Given the description of an element on the screen output the (x, y) to click on. 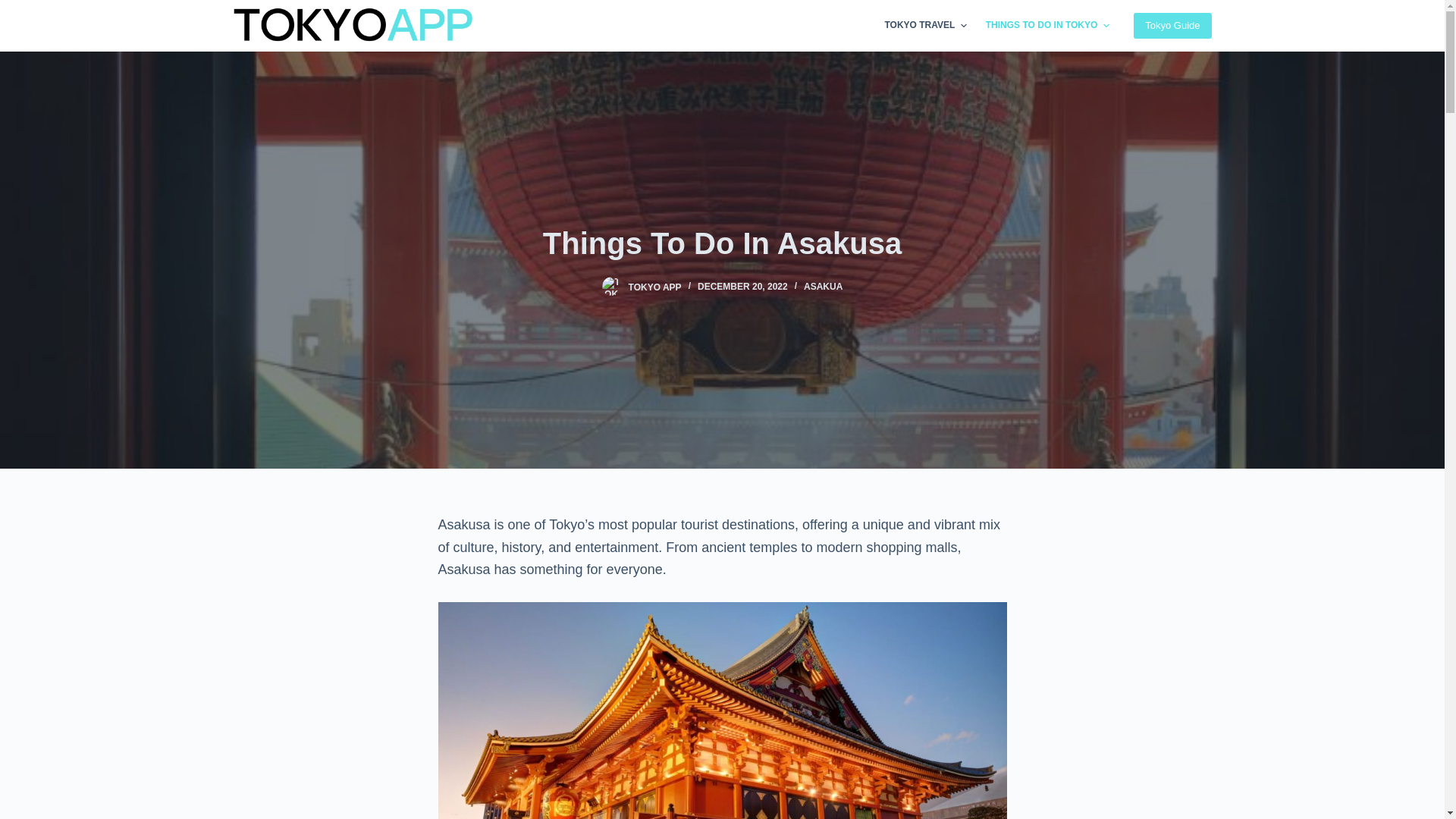
Skip to content (15, 7)
Things To Do In Asakusa (722, 242)
THINGS TO DO IN TOKYO (1046, 25)
Posts by Tokyo App (654, 286)
TOKYO TRAVEL (925, 25)
